Given the description of an element on the screen output the (x, y) to click on. 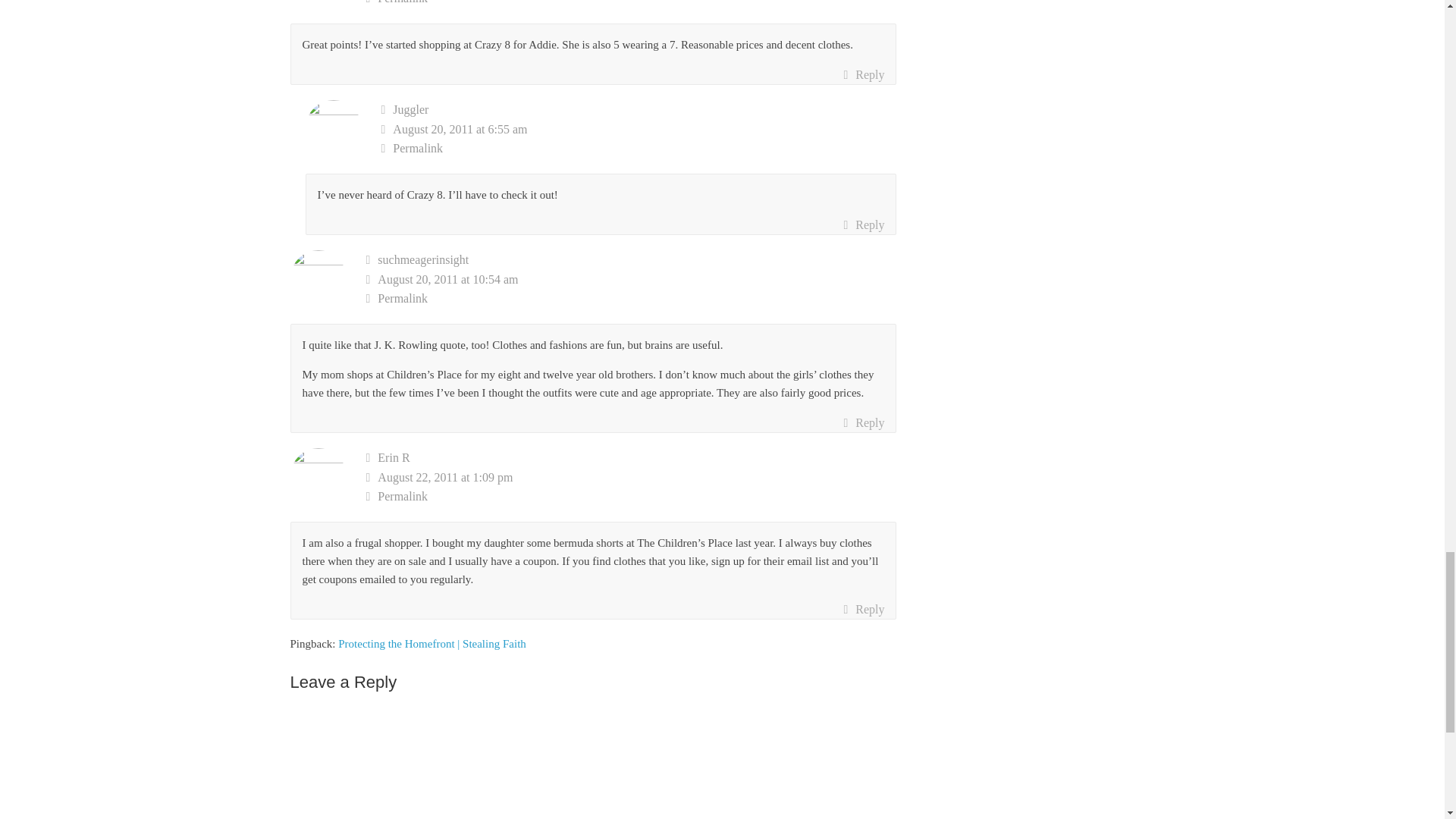
Reply (863, 75)
Permalink (630, 4)
Juggler (410, 109)
Comment Form (592, 762)
